Given the description of an element on the screen output the (x, y) to click on. 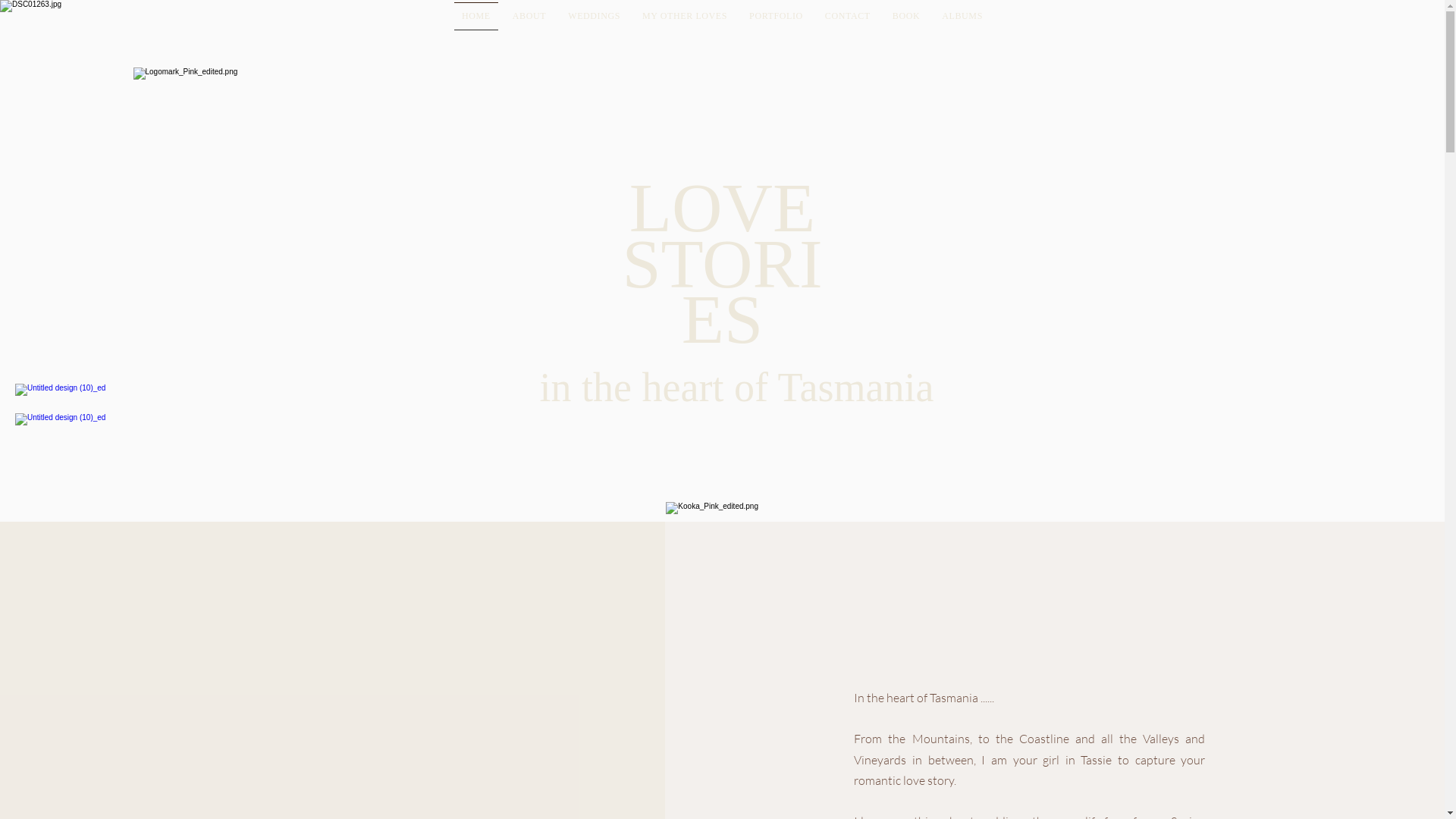
BOOK Element type: text (905, 16)
Kooka_Pink.png Element type: hover (745, 535)
HOME Element type: text (475, 16)
WEDDINGS Element type: text (594, 16)
CONTACT Element type: text (847, 16)
MY OTHER LOVES Element type: text (684, 16)
ABOUT Element type: text (528, 16)
PORTFOLIO Element type: text (776, 16)
ALBUMS Element type: text (962, 16)
